Given the description of an element on the screen output the (x, y) to click on. 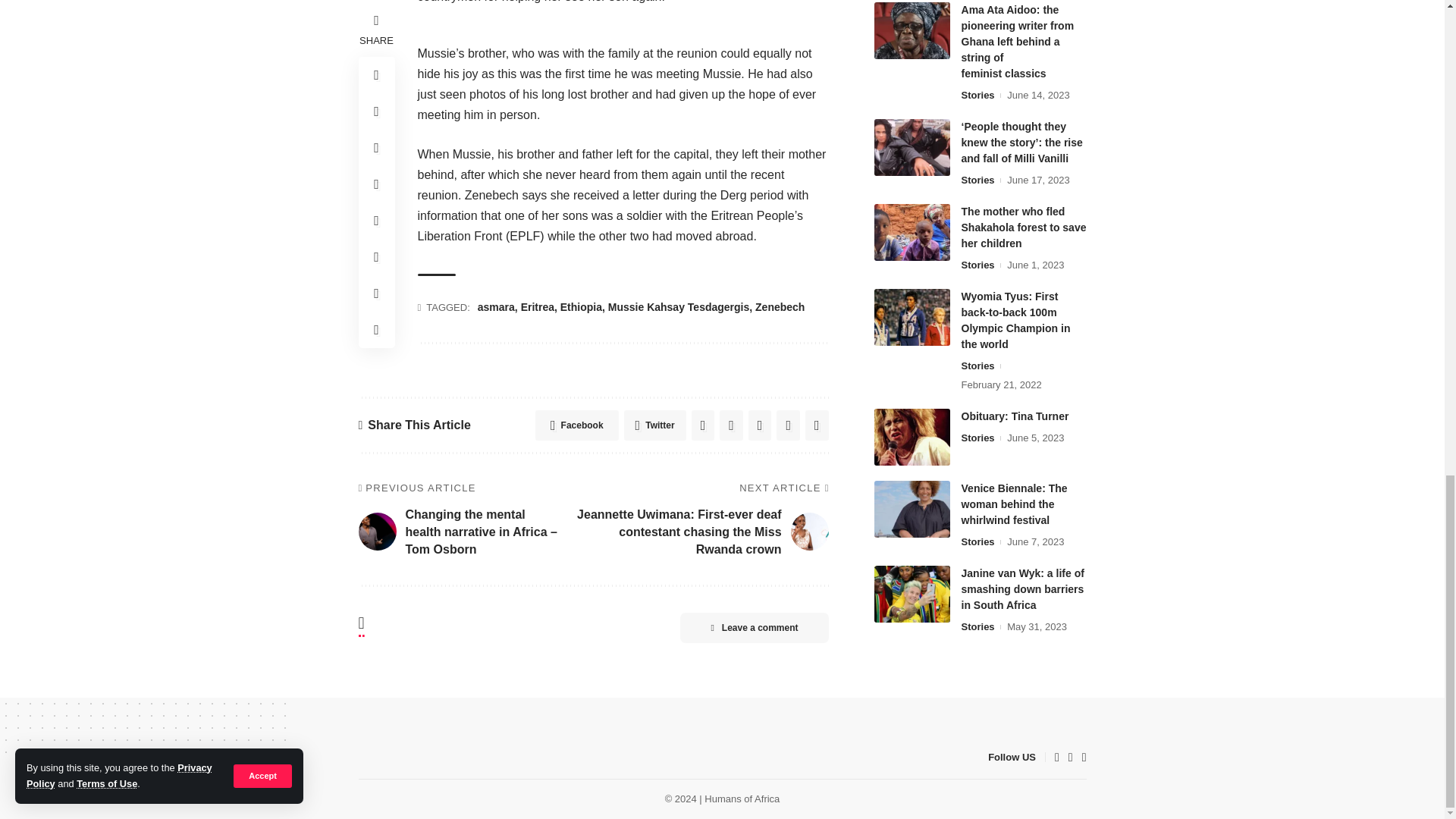
Eritrea (537, 306)
asmara (496, 306)
Zenebech (780, 306)
Ethiopia (581, 306)
Mussie Kahsay Tesdagergis (678, 306)
